Given the description of an element on the screen output the (x, y) to click on. 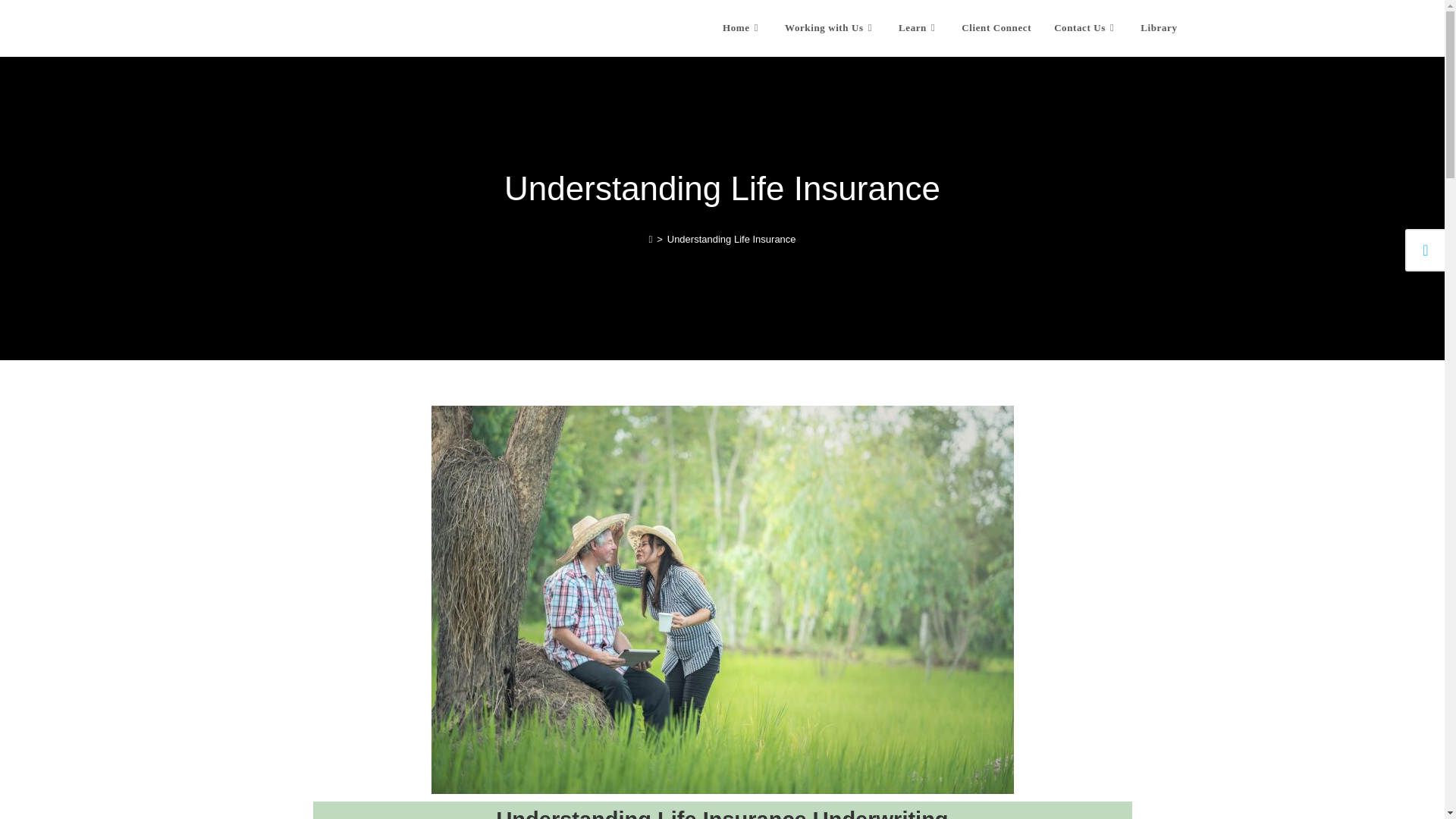
Client Connect (996, 28)
Contact Us (1085, 28)
Home (742, 28)
Toler Financial Group (359, 27)
Library (1158, 28)
Learn (918, 28)
Working with Us (829, 28)
